Given the description of an element on the screen output the (x, y) to click on. 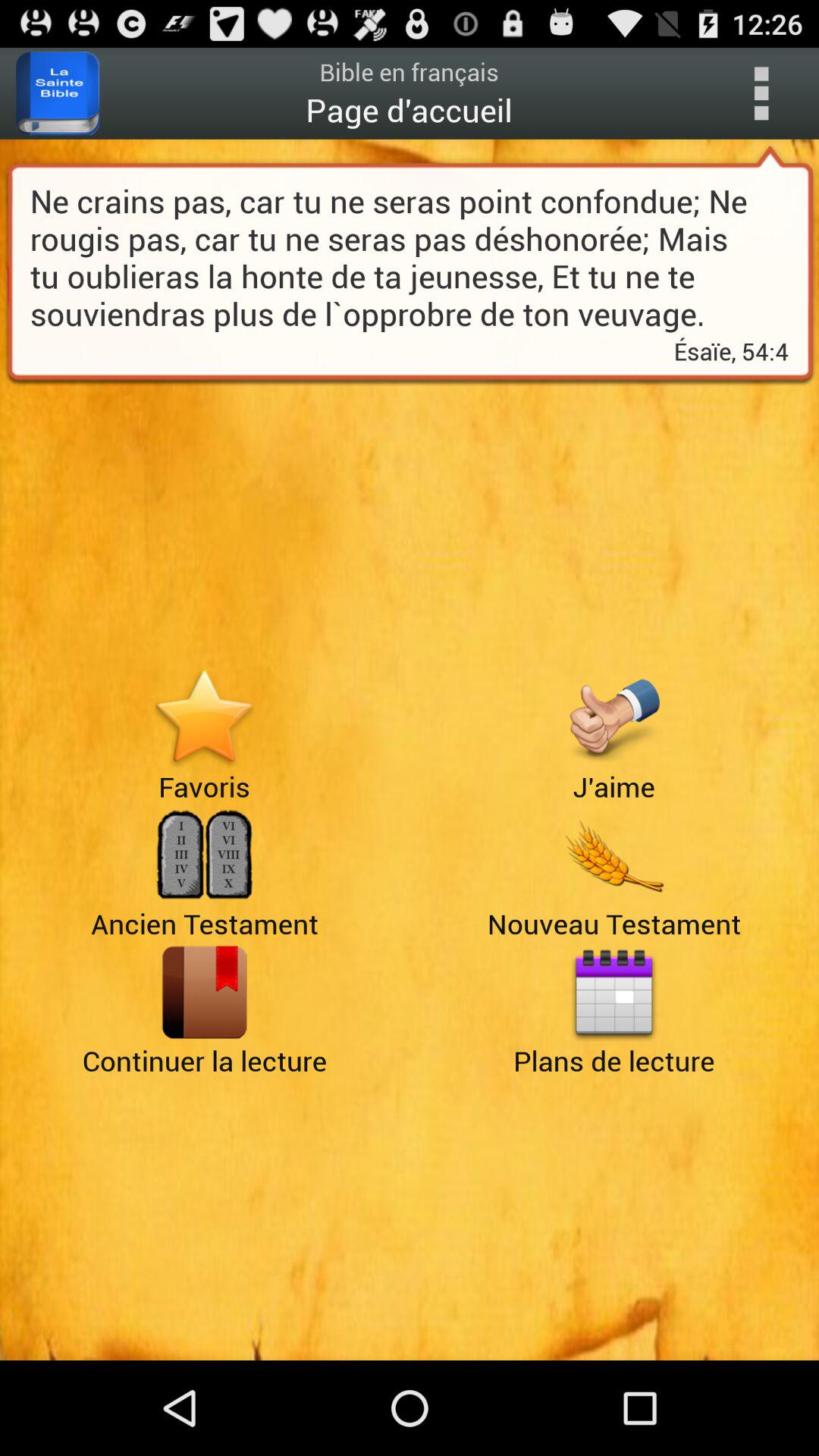
go to advertisement (204, 717)
